Given the description of an element on the screen output the (x, y) to click on. 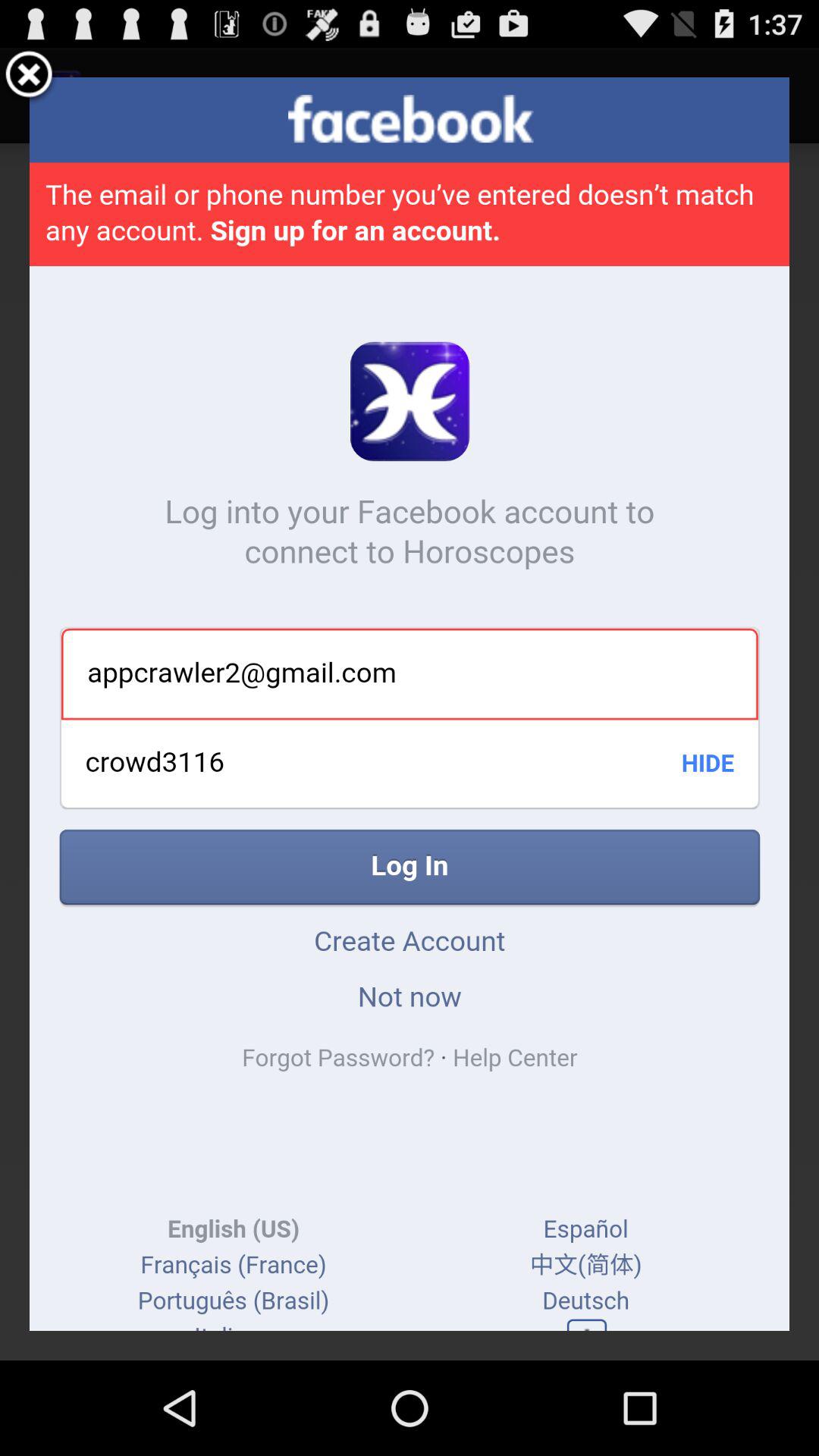
close window (29, 76)
